Given the description of an element on the screen output the (x, y) to click on. 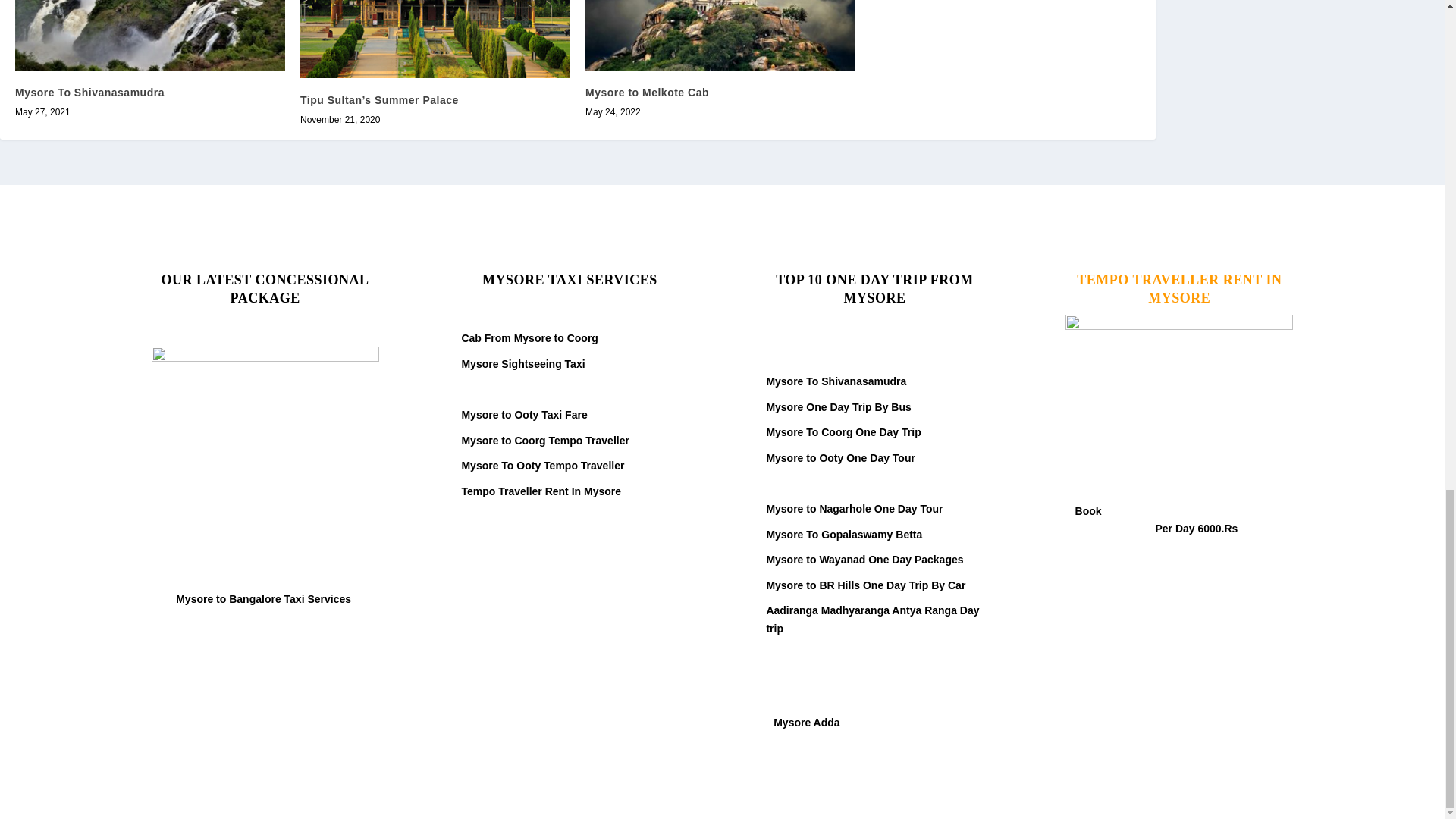
Mysore Outstation Taxi  (520, 313)
Mysore Sightseeing Taxi (523, 363)
Mysore To Ooty Tempo Traveller (542, 465)
Mysore to Bangalore Taxi Services  (264, 598)
Mysore to Melkote Cab (647, 92)
Mysore to Coorg Tempo Traveller (544, 440)
Mysore to Melkote Cab (720, 35)
Mysore To Shivanasamudra (149, 35)
Mysore to Ooty Taxi Fare (523, 414)
Mysore To Bangalore Cab (526, 388)
Mysore To Shivanasamudra (89, 92)
Cab From Mysore to Coorg (528, 337)
